Given the description of an element on the screen output the (x, y) to click on. 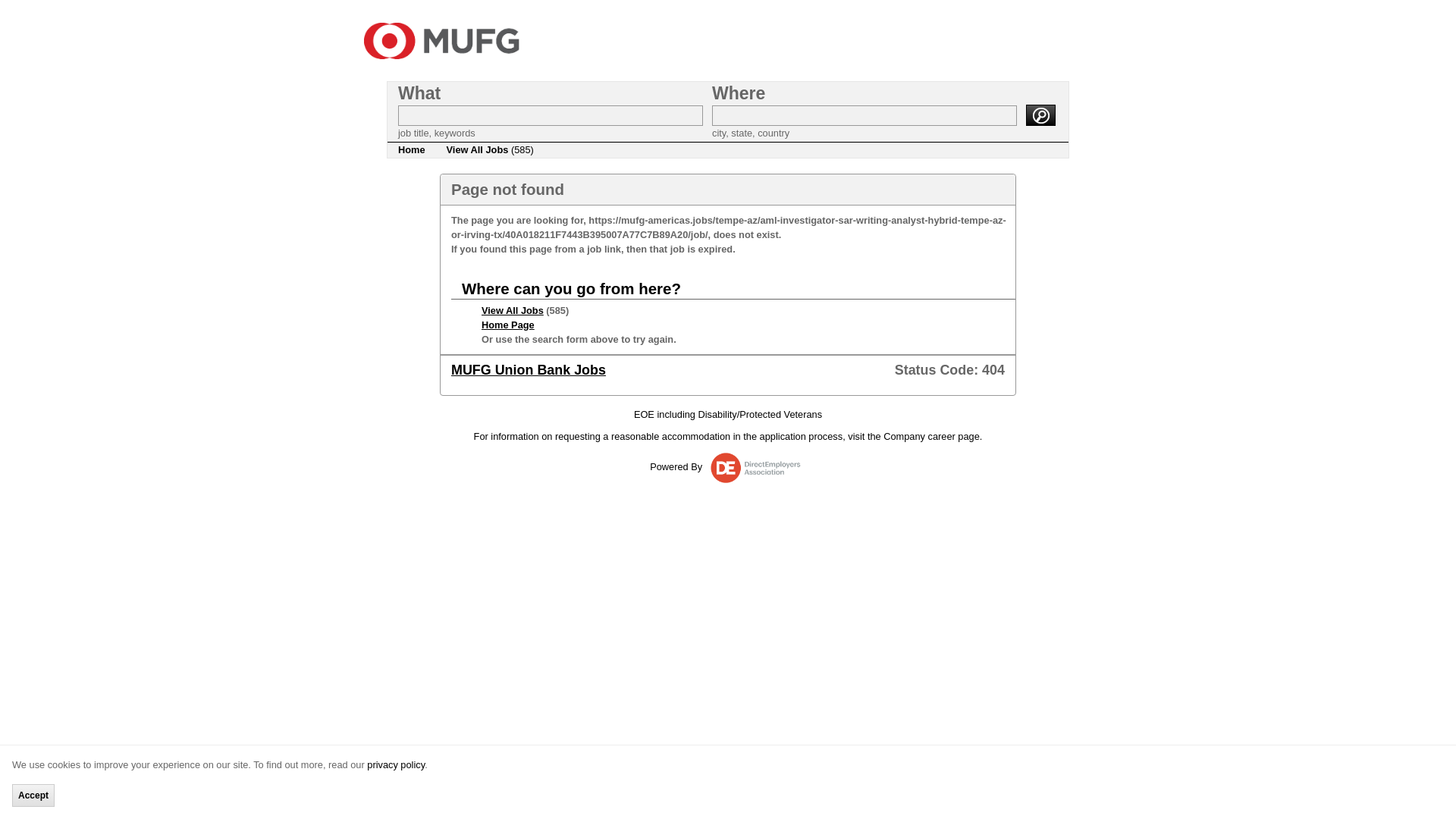
Search Location (863, 115)
search (1040, 115)
Submit Search (1040, 115)
Home (411, 150)
visit the Company career page (913, 436)
search (1040, 115)
Search Phrase (550, 115)
View All Jobs (512, 310)
MUFG Union Bank Jobs (528, 369)
Home Page (507, 324)
